Given the description of an element on the screen output the (x, y) to click on. 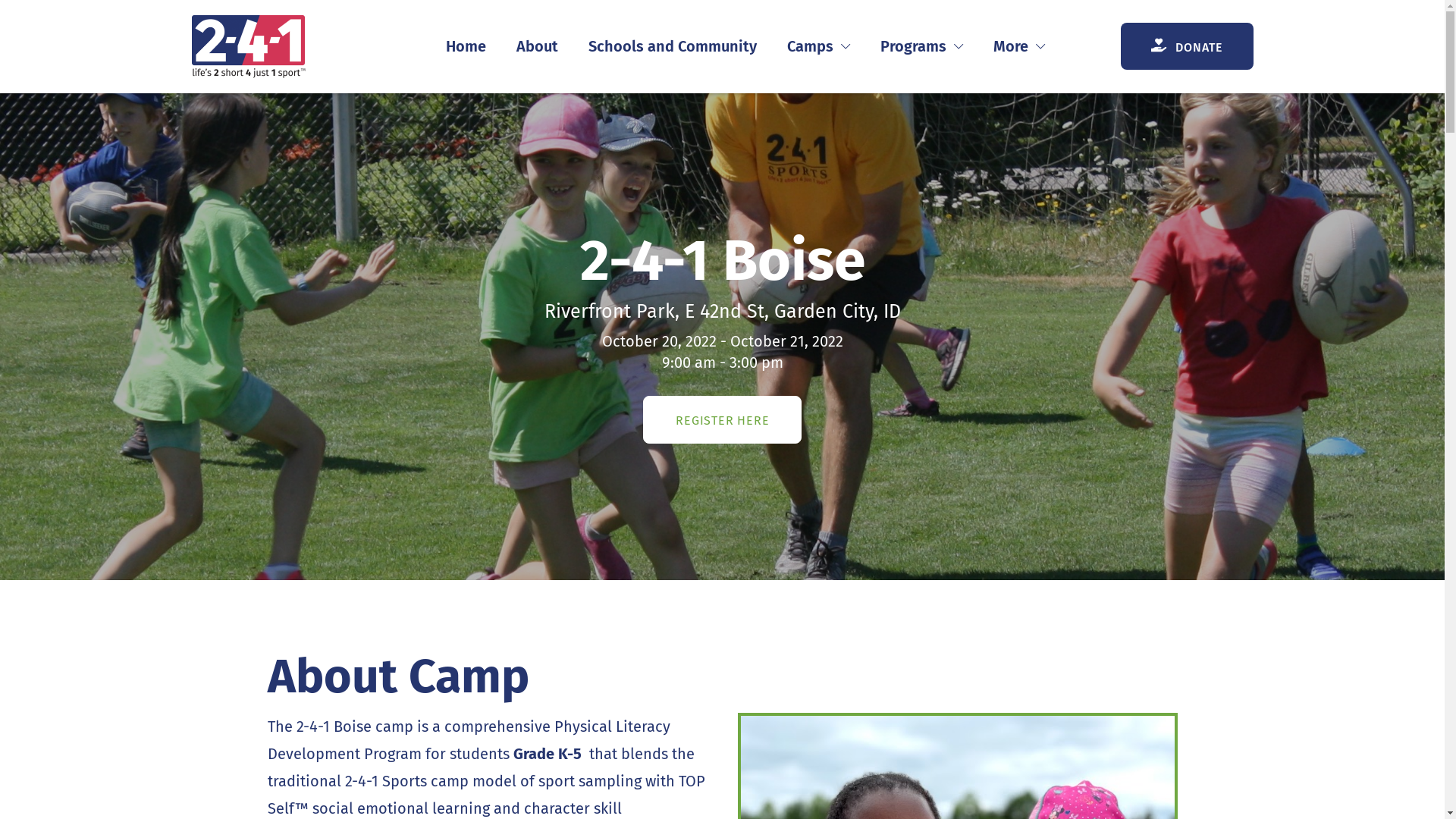
About Element type: text (536, 45)
Programs Element type: text (920, 45)
DONATE Element type: text (1186, 45)
Camps Element type: text (818, 45)
Home Element type: text (465, 45)
More Element type: text (1019, 45)
Schools and Community Element type: text (672, 45)
REGISTER HERE Element type: text (722, 419)
